Given the description of an element on the screen output the (x, y) to click on. 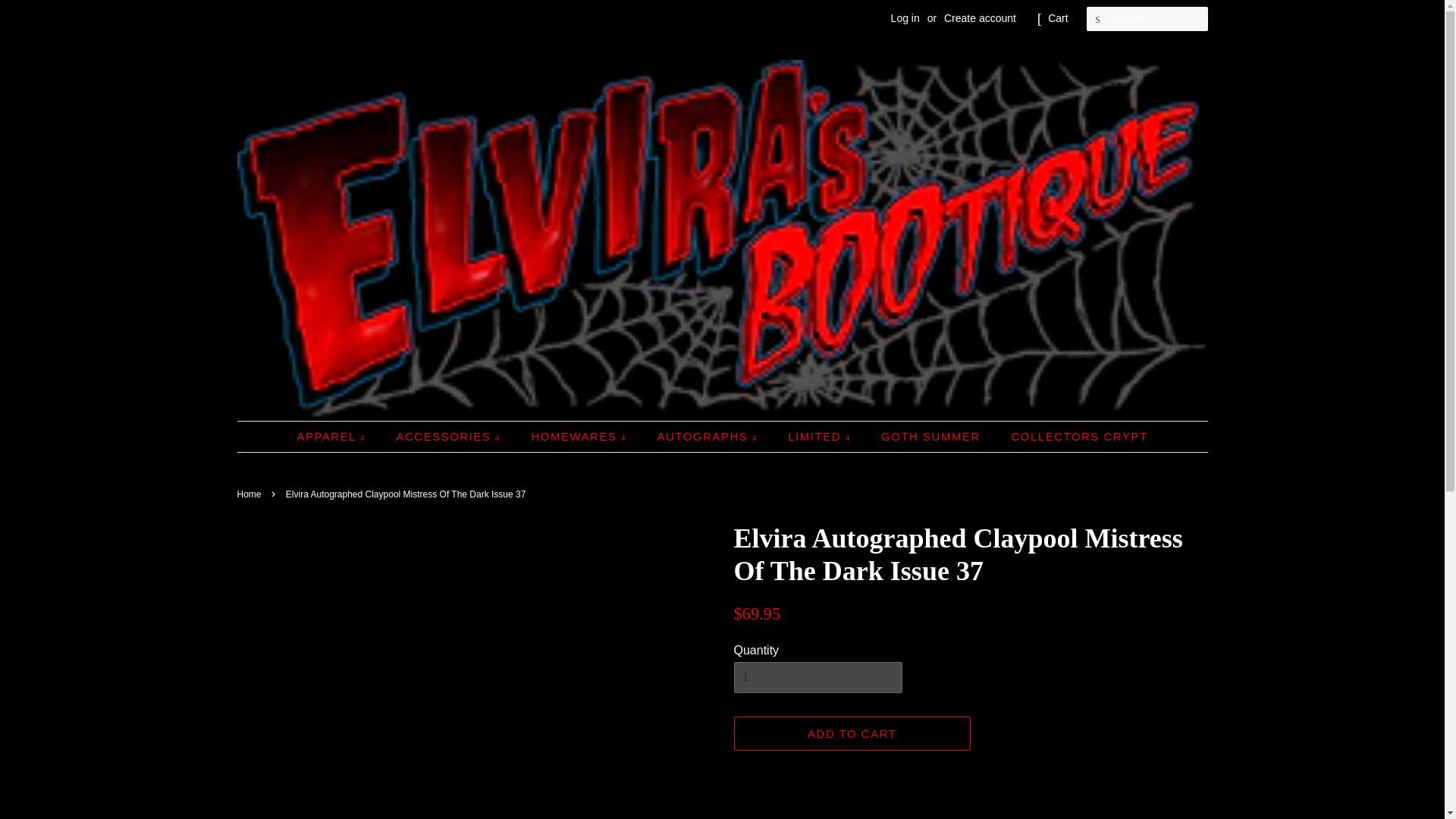
Back to the frontpage (249, 493)
1 (817, 676)
SEARCH (1097, 18)
Log in (905, 18)
Cart (1057, 18)
Create account (979, 18)
